Given the description of an element on the screen output the (x, y) to click on. 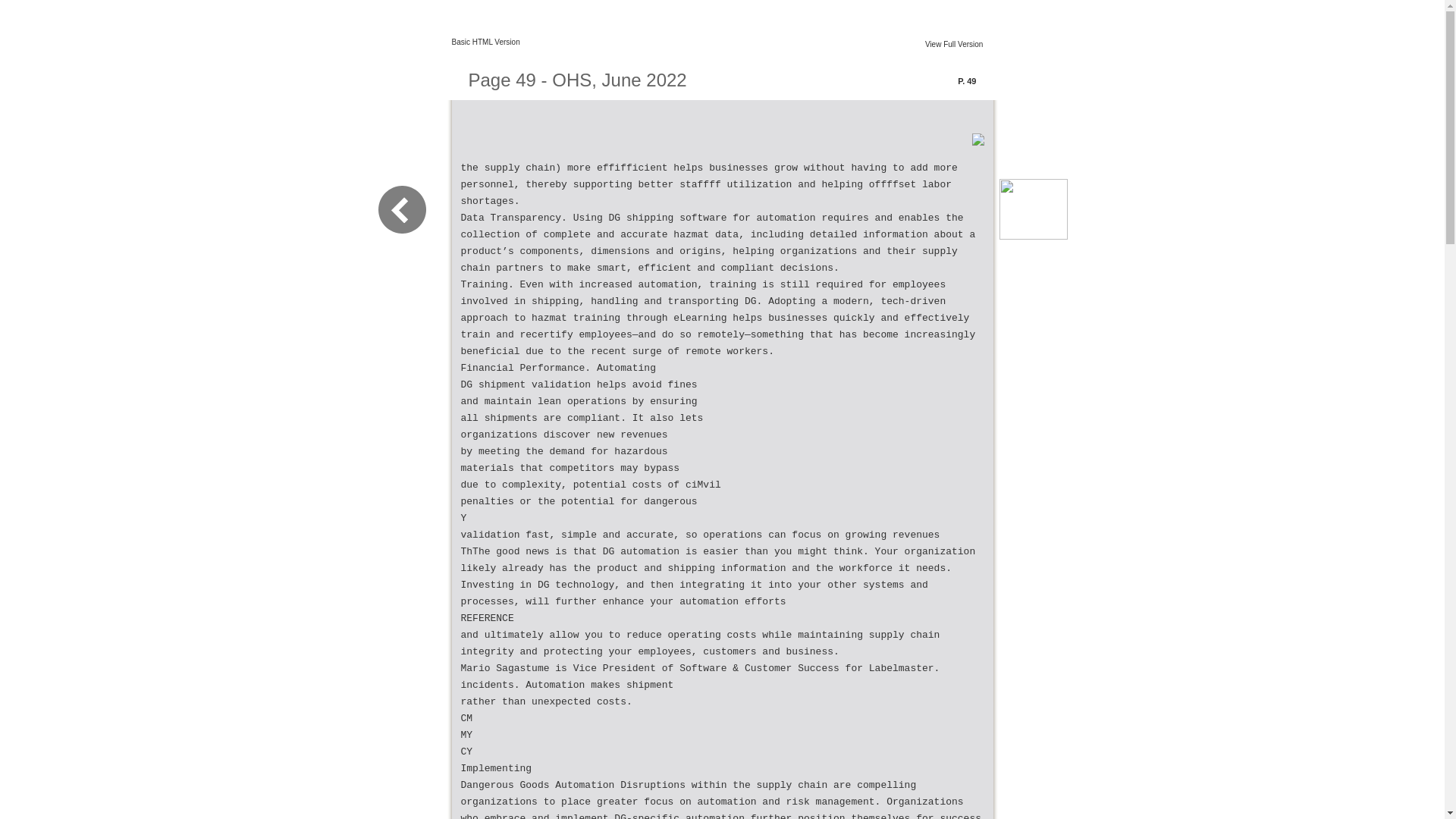
View Full Version Element type: text (954, 43)
